Given the description of an element on the screen output the (x, y) to click on. 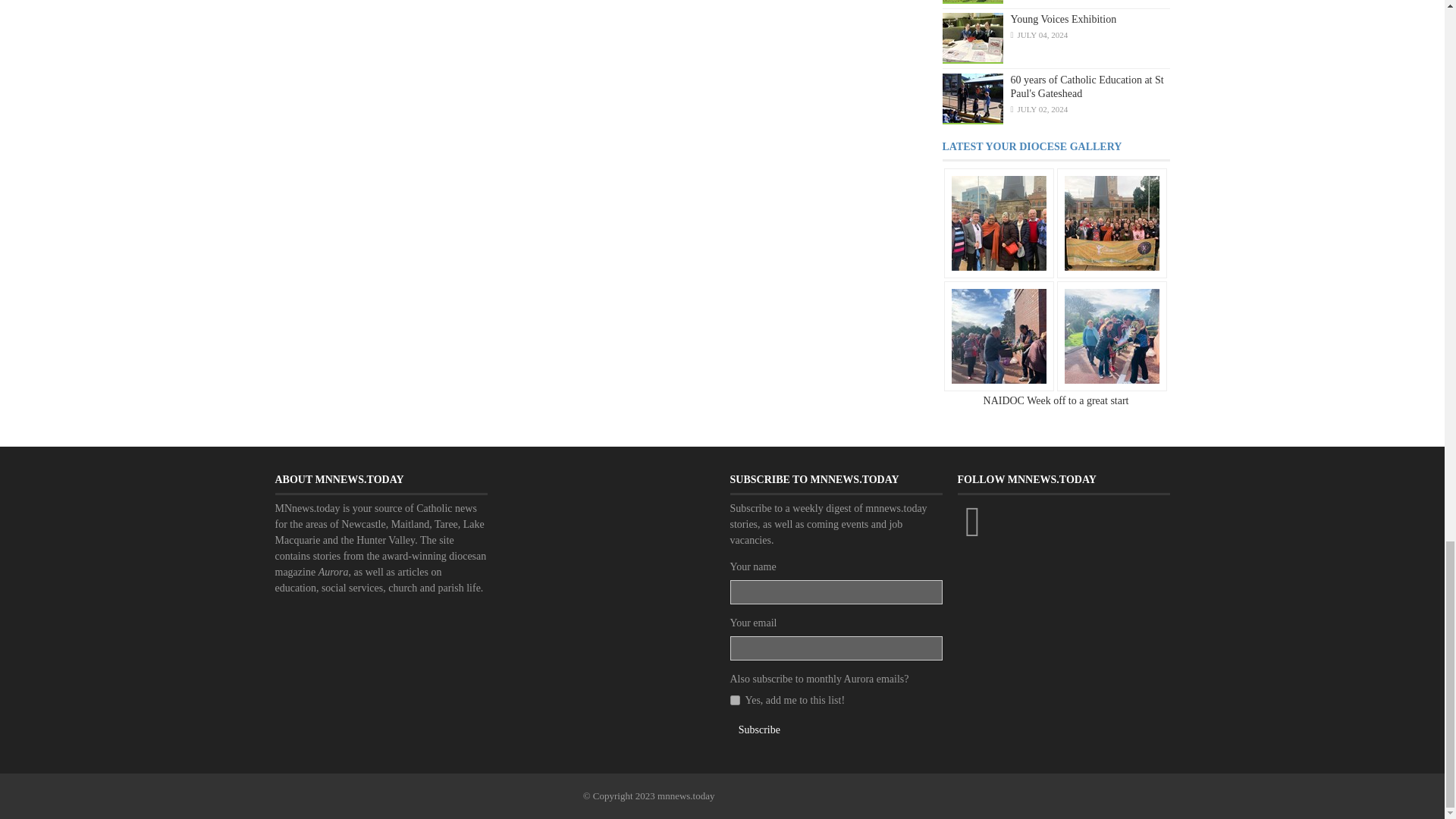
NAIDOC Week off to a great start (997, 222)
on (734, 700)
